Given the description of an element on the screen output the (x, y) to click on. 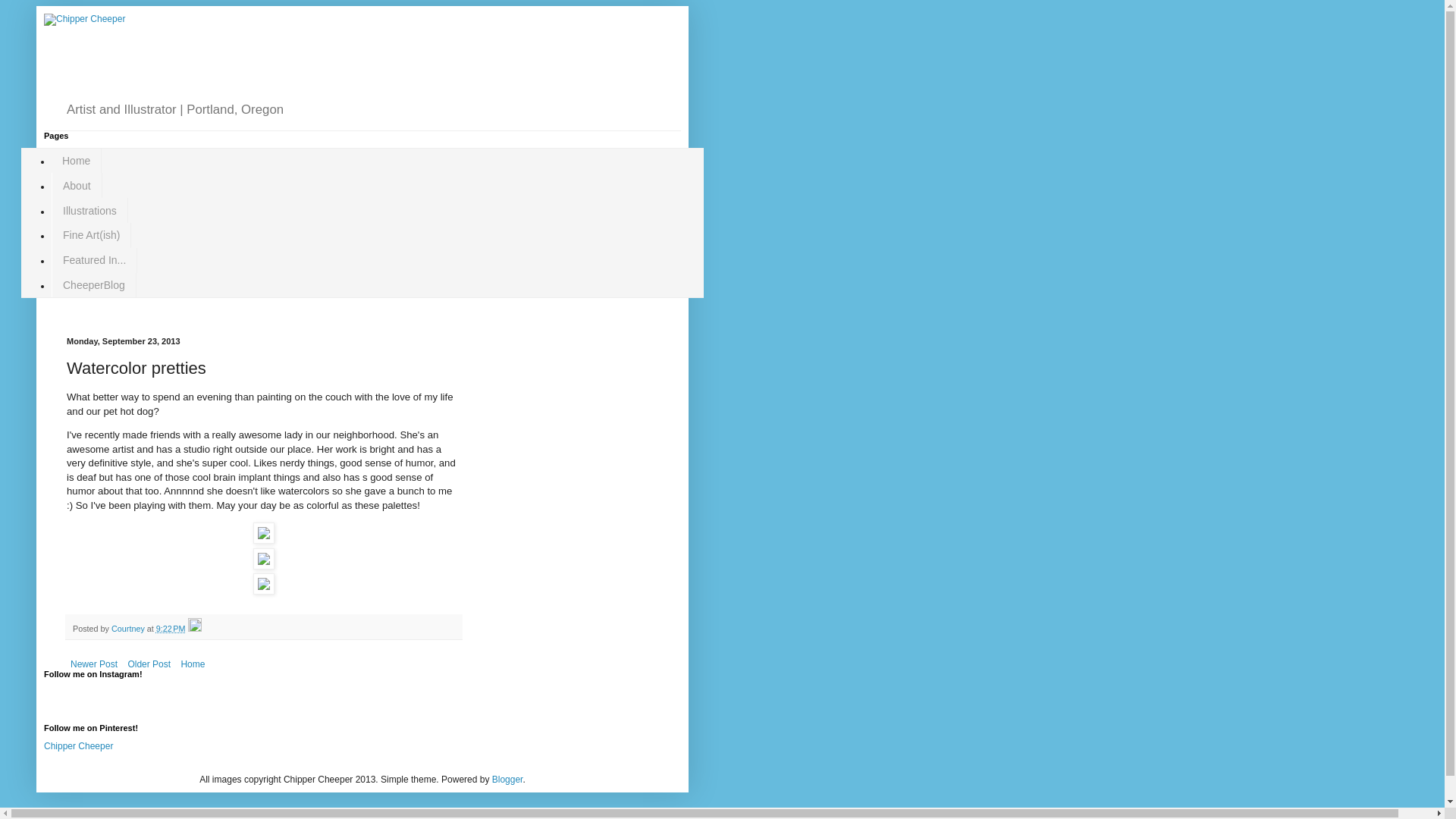
Newer Post (93, 664)
Older Post (148, 664)
Home (75, 160)
Home (192, 664)
Chipper Cheeper (78, 746)
Courtney (129, 628)
author profile (129, 628)
CheeperBlog (93, 285)
Blogger (507, 778)
